Given the description of an element on the screen output the (x, y) to click on. 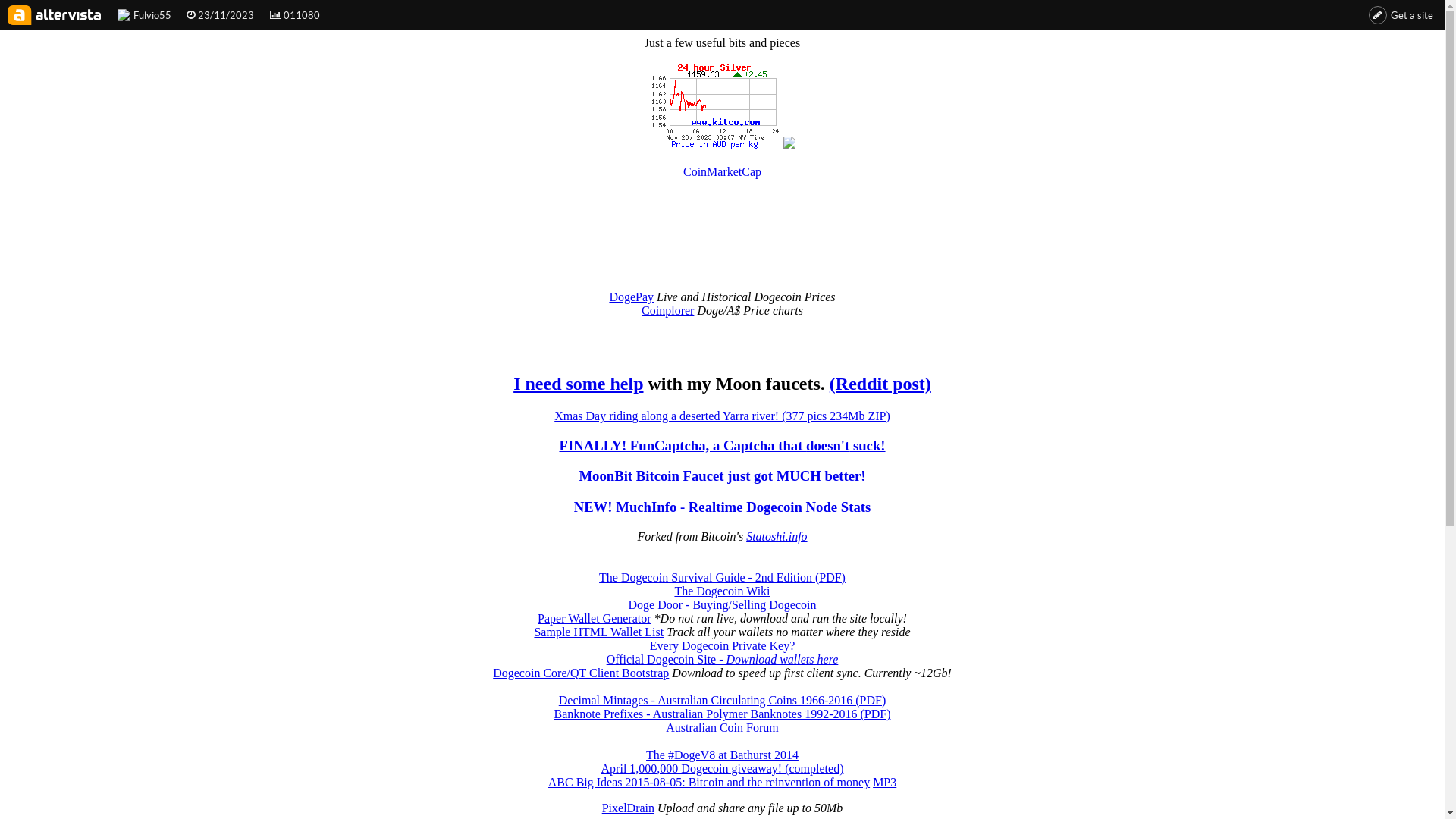
April 1,000,000 Dogecoin giveaway! (completed) Element type: text (722, 768)
MoonBit Bitcoin Faucet just got MUCH better! Element type: text (721, 475)
FINALLY! FunCaptcha, a Captcha that doesn't suck! Element type: text (721, 445)
The Dogecoin Survival Guide - 2nd Edition (PDF) Element type: text (722, 577)
DogePay Element type: text (630, 296)
MP3 Element type: text (884, 781)
Official Dogecoin Site - Download wallets here Element type: text (722, 658)
Paper Wallet Generator Element type: text (593, 617)
NEW! MuchInfo - Realtime Dogecoin Node Stats Element type: text (722, 506)
Every Dogecoin Private Key? Element type: text (721, 645)
Doge Door - Buying/Selling Dogecoin Element type: text (722, 604)
I need some help Element type: text (578, 383)
CoinMarketCap Element type: text (722, 171)
Australian Coin Forum Element type: text (721, 727)
The Dogecoin Wiki Element type: text (721, 590)
Statoshi.info Element type: text (776, 536)
The #DogeV8 at Bathurst 2014 Element type: text (722, 754)
Get a site Element type: text (1400, 15)
Coinplorer Element type: text (667, 310)
(Reddit post) Element type: text (880, 383)
Dogecoin Core/QT Client Bootstrap Element type: text (580, 672)
PixelDrain Element type: text (628, 807)
Sample HTML Wallet List Element type: text (598, 631)
